Given the description of an element on the screen output the (x, y) to click on. 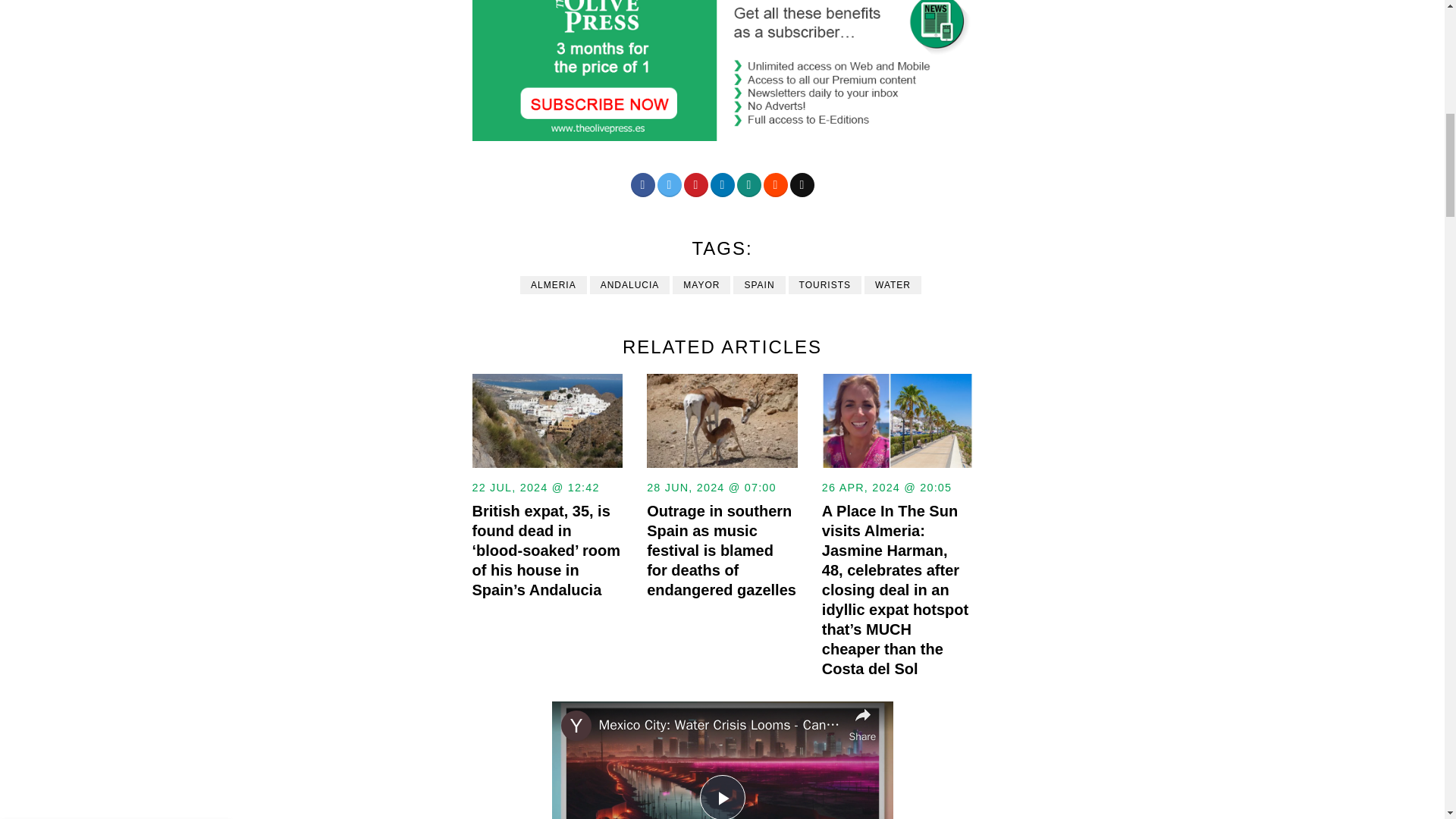
26 Apr, 2024 20:00:05 (1396, 22)
22 Jul, 2024 12:21:42 (887, 487)
28 Jun, 2024 07:00:00 (534, 487)
Play Video (711, 487)
